Given the description of an element on the screen output the (x, y) to click on. 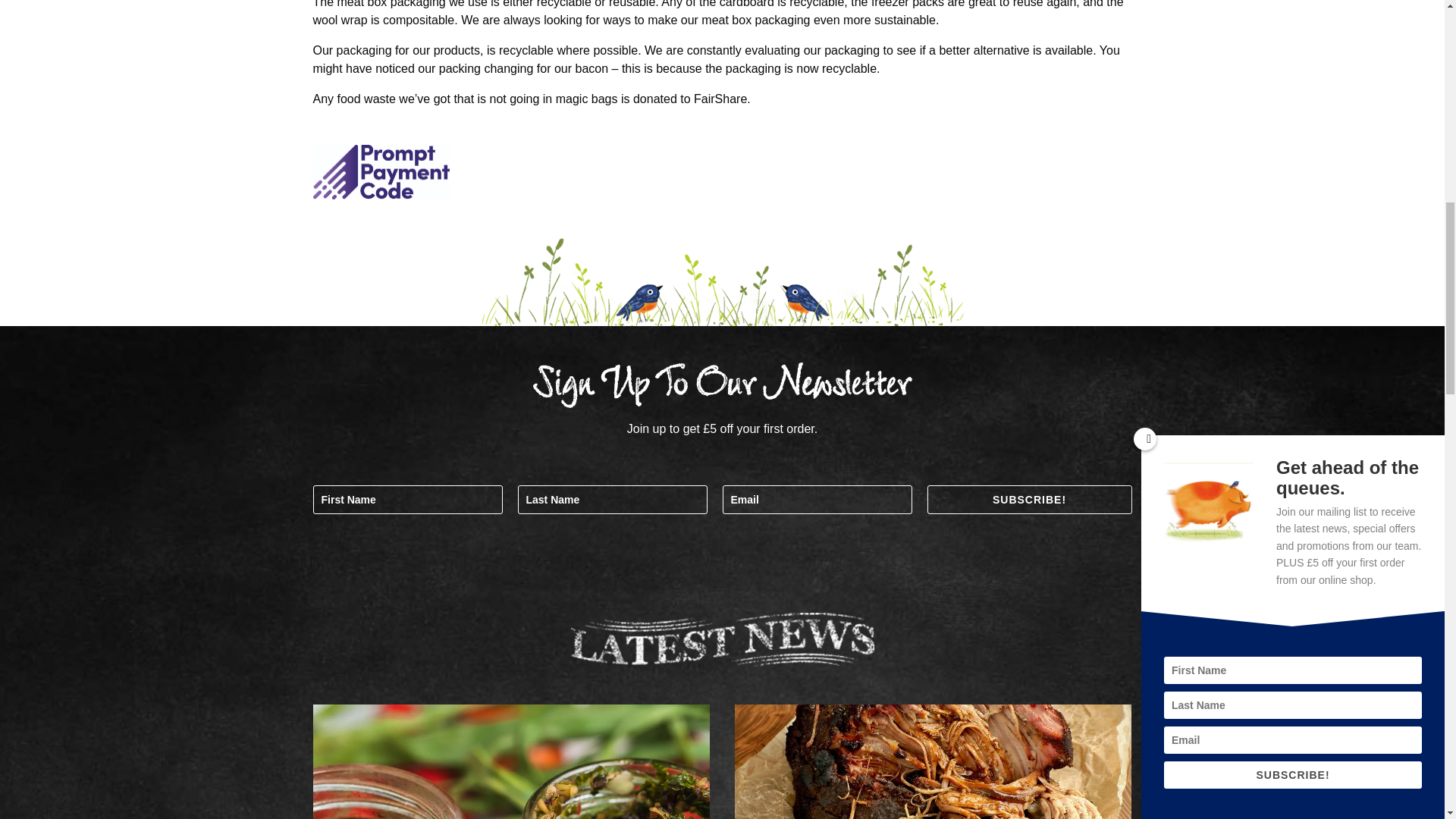
footer-newsletter-title (721, 384)
footer-latest-news-title (721, 638)
